Given the description of an element on the screen output the (x, y) to click on. 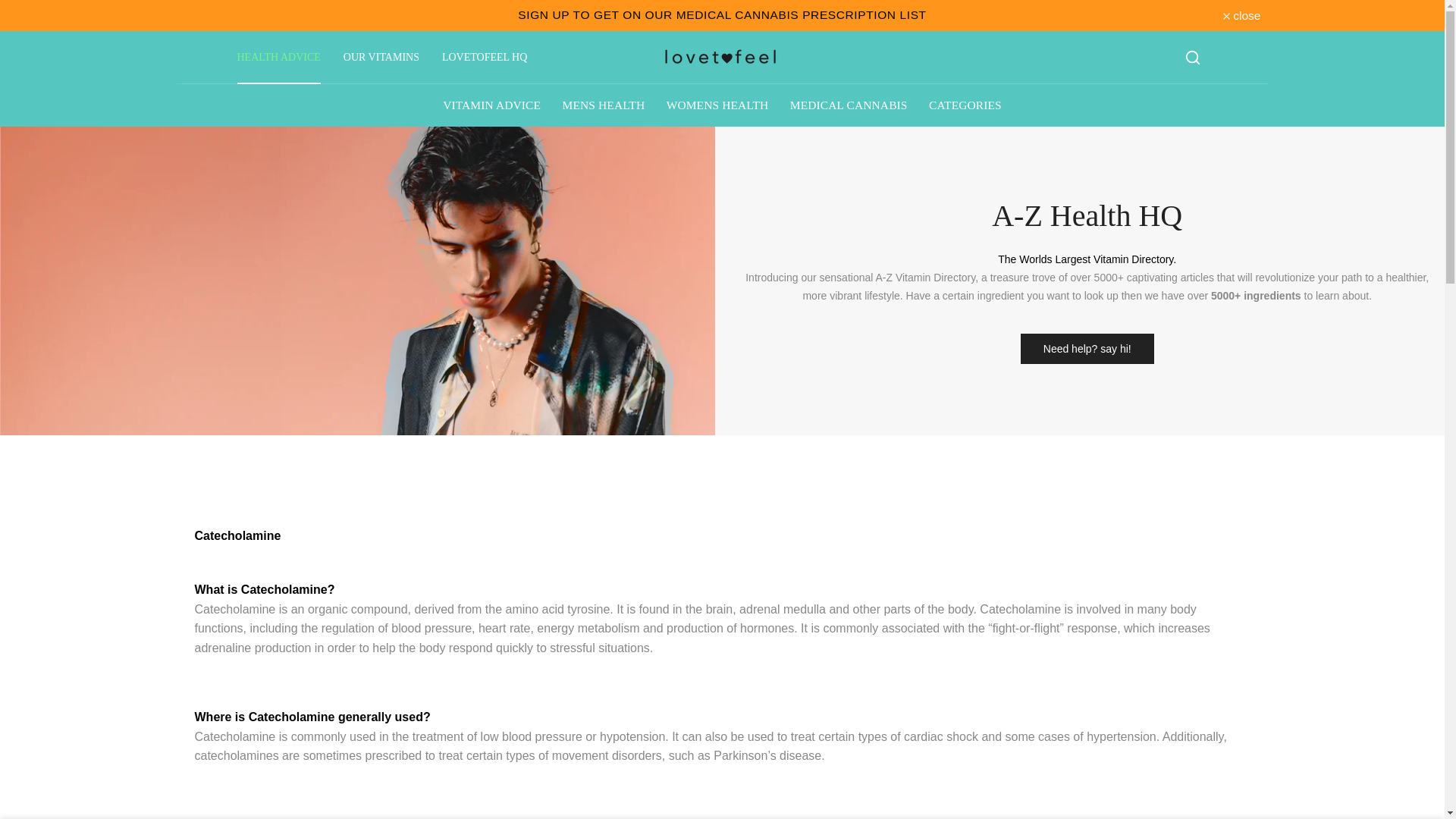
WOMENS HEALTH (716, 105)
LOVETOFEEL HQ (484, 57)
Skip to content (10, 7)
OUR VITAMINS (380, 57)
VITAMIN ADVICE (491, 105)
SIGN UP TO GET ON OUR MEDICAL CANNABIS PRESCRIPTION LIST (722, 14)
MENS HEALTH (603, 105)
CATEGORIES (964, 105)
Need help? say hi! (1087, 348)
SUBSCRIBE (722, 14)
HEALTH ADVICE (278, 57)
MEDICAL CANNABIS (848, 105)
close (1241, 15)
